Given the description of an element on the screen output the (x, y) to click on. 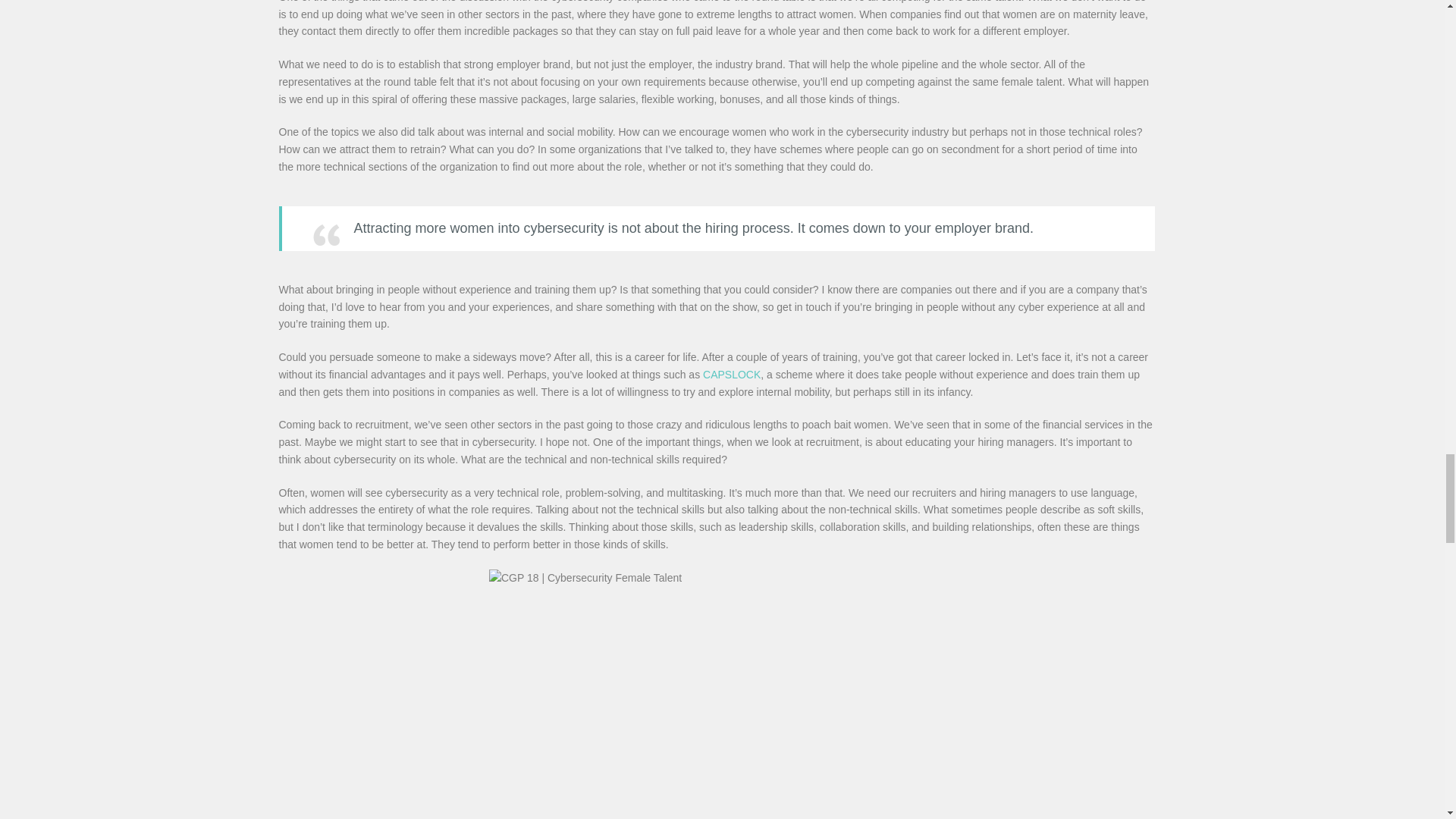
CAPSLOCK (731, 374)
